Given the description of an element on the screen output the (x, y) to click on. 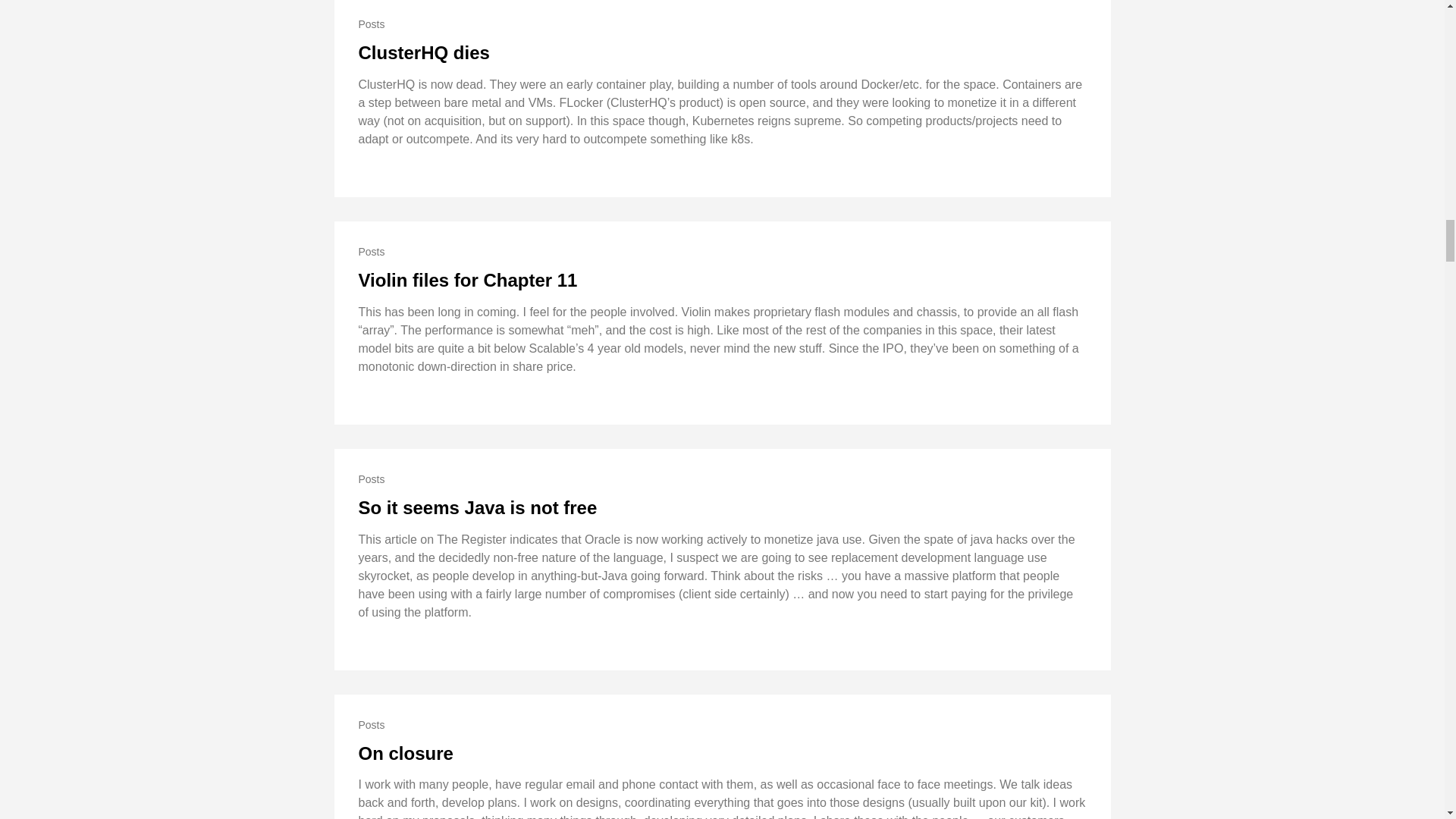
So it seems Java is not free (477, 507)
Violin files for Chapter 11 (467, 280)
On closure (405, 752)
ClusterHQ dies (423, 52)
